Given the description of an element on the screen output the (x, y) to click on. 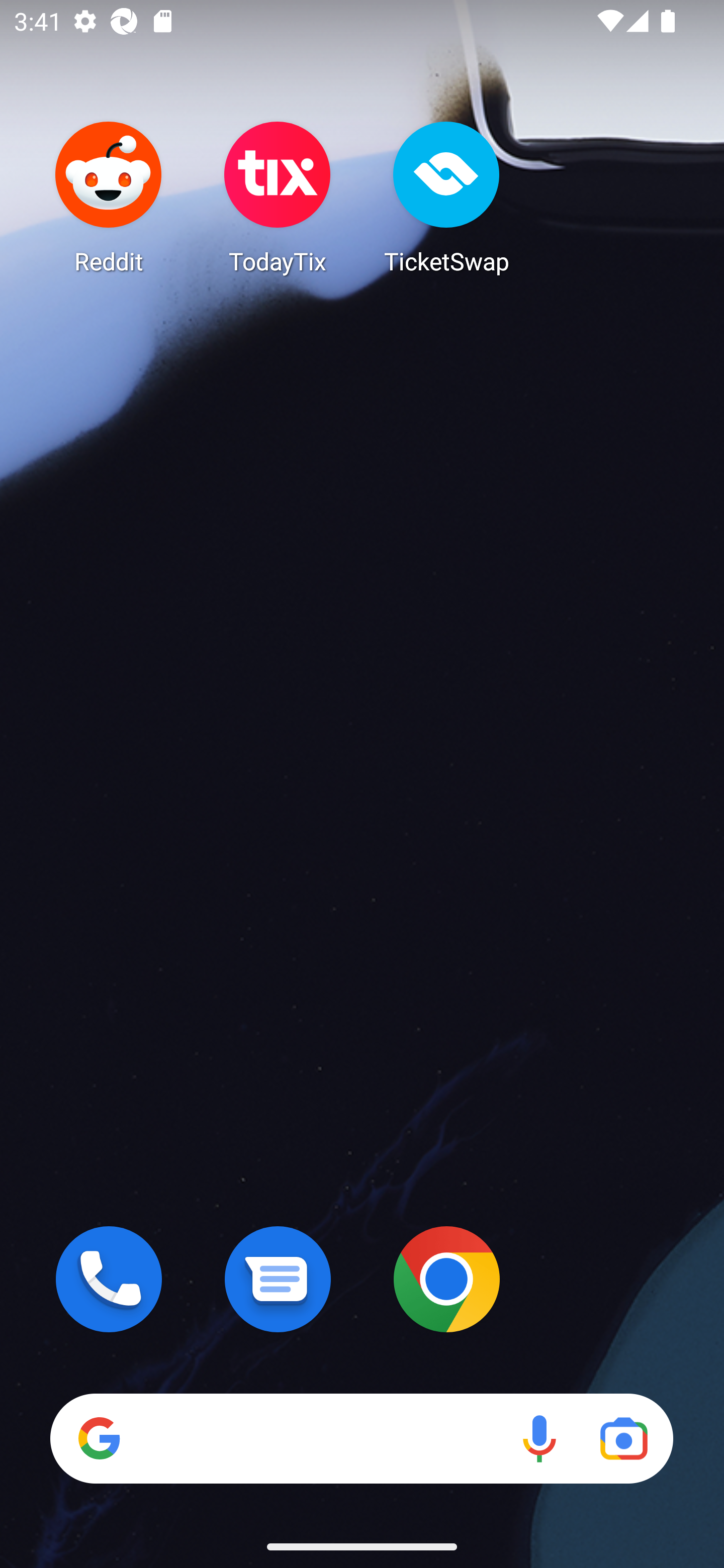
Reddit (108, 196)
TodayTix (277, 196)
TicketSwap (445, 196)
Phone (108, 1279)
Messages (277, 1279)
Chrome (446, 1279)
Voice search (539, 1438)
Google Lens (623, 1438)
